Given the description of an element on the screen output the (x, y) to click on. 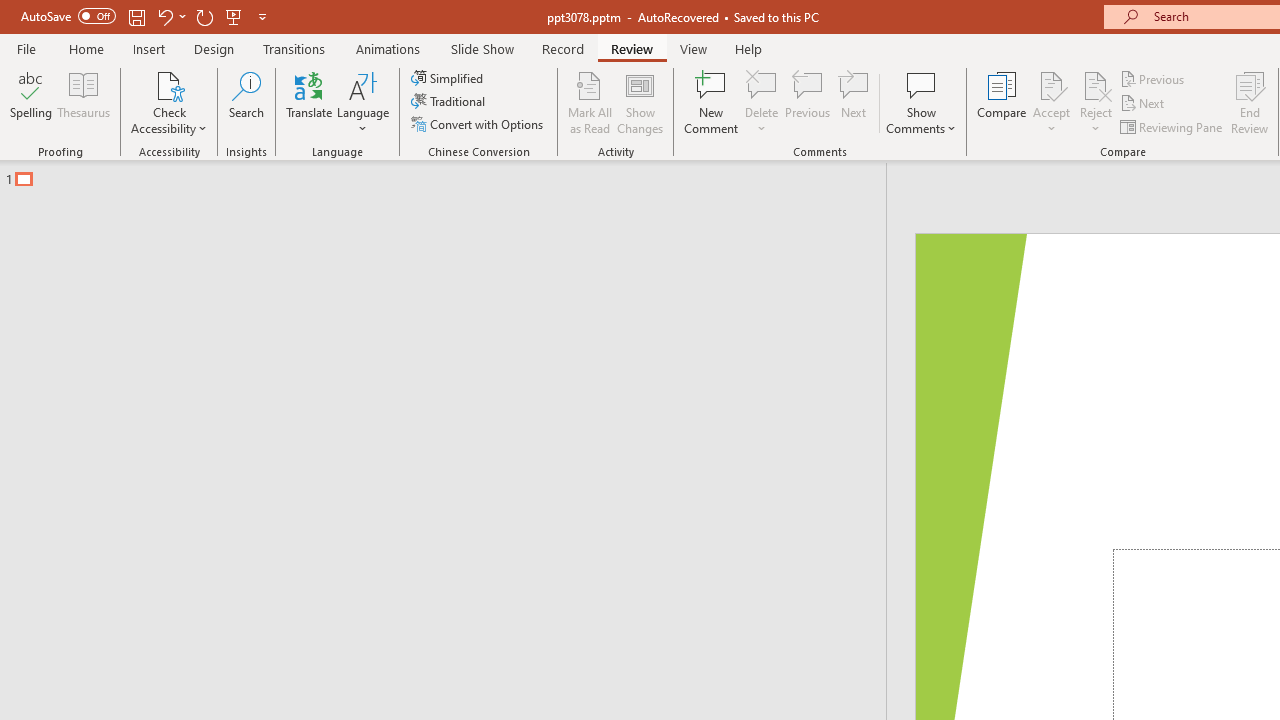
Show Changes (639, 102)
Mark All as Read (589, 102)
Outline (452, 174)
End Review (1249, 102)
Traditional (449, 101)
